Given the description of an element on the screen output the (x, y) to click on. 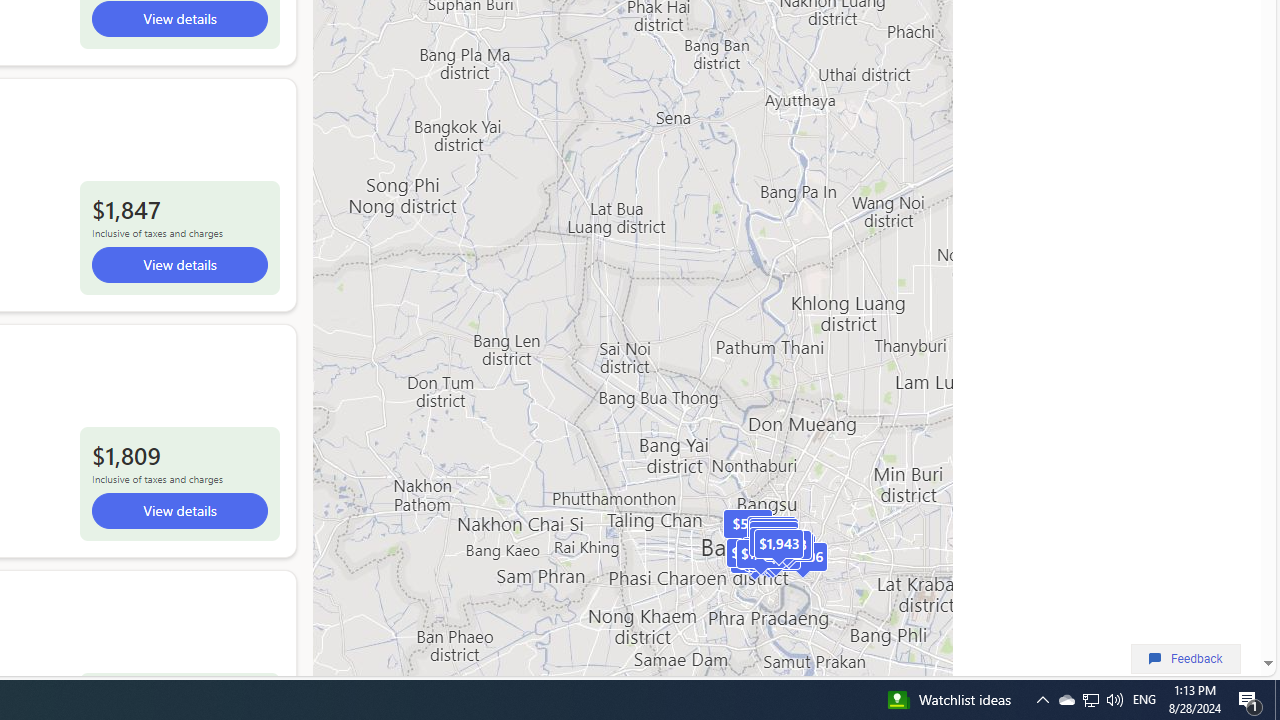
View details (178, 511)
